Given the description of an element on the screen output the (x, y) to click on. 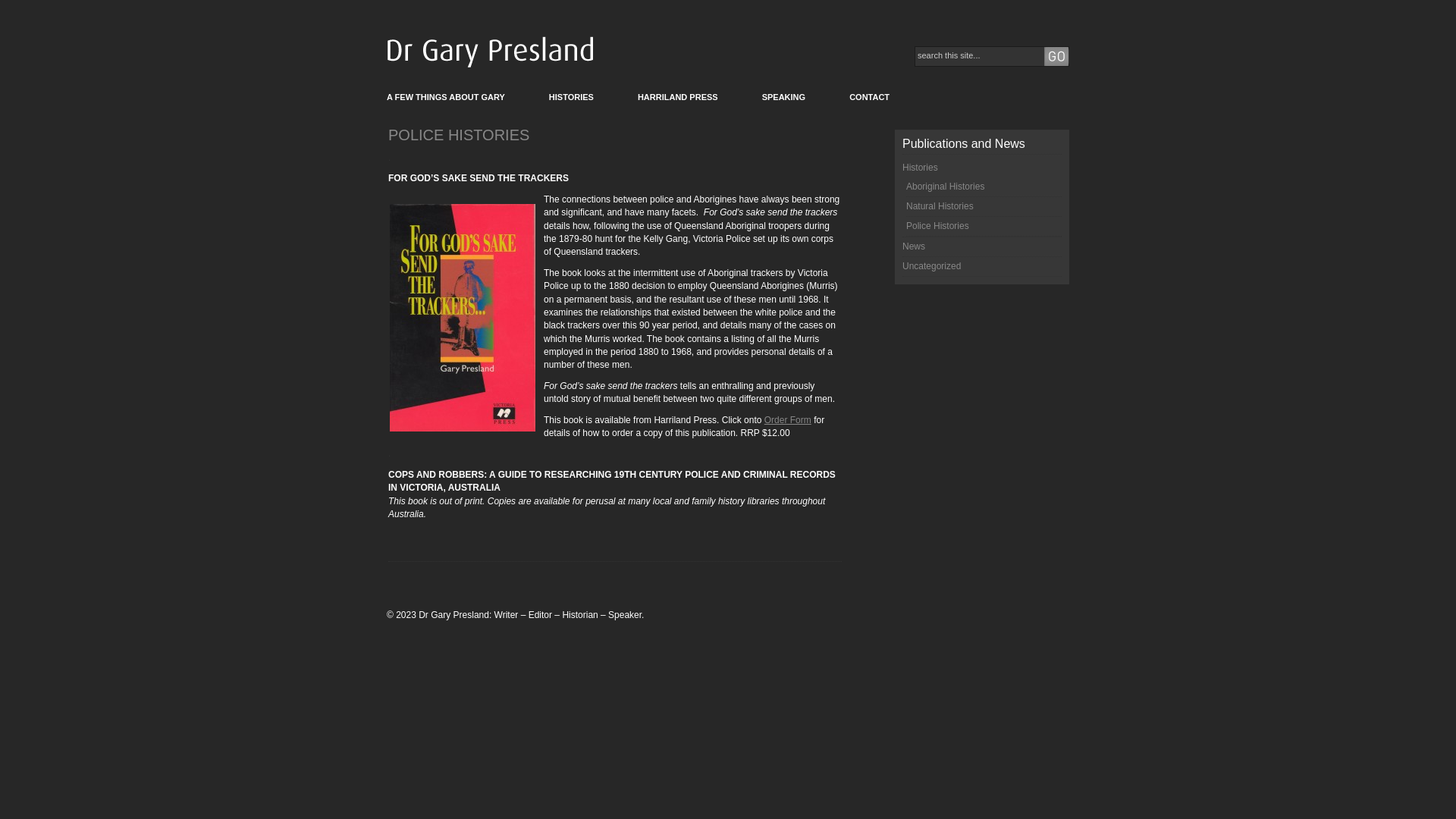
Uncategorized Element type: text (931, 265)
Histories Element type: text (920, 167)
A FEW THINGS ABOUT GARY Element type: text (445, 96)
Trackers cvr Element type: hover (463, 317)
Natural Histories Element type: text (939, 205)
Search Element type: text (927, 73)
Aboriginal Histories Element type: text (945, 186)
HARRILAND PRESS Element type: text (677, 96)
Order Form Element type: text (787, 419)
HISTORIES Element type: text (571, 96)
News Element type: text (913, 246)
SPEAKING Element type: text (783, 96)
Police Histories Element type: text (937, 225)
CONTACT Element type: text (869, 96)
